Given the description of an element on the screen output the (x, y) to click on. 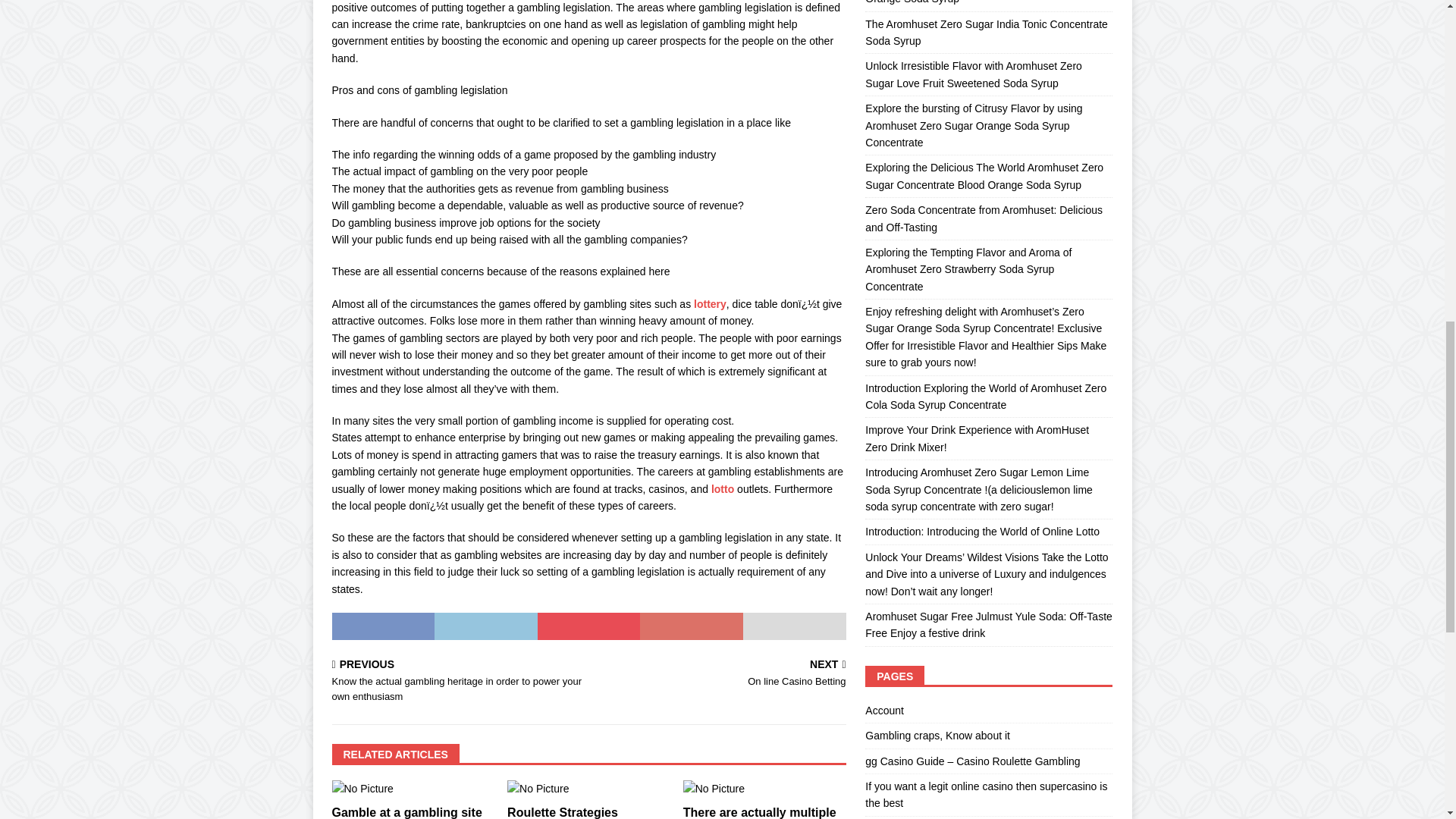
Roulette Strategies (561, 812)
lottery (710, 304)
lotto (720, 674)
